Given the description of an element on the screen output the (x, y) to click on. 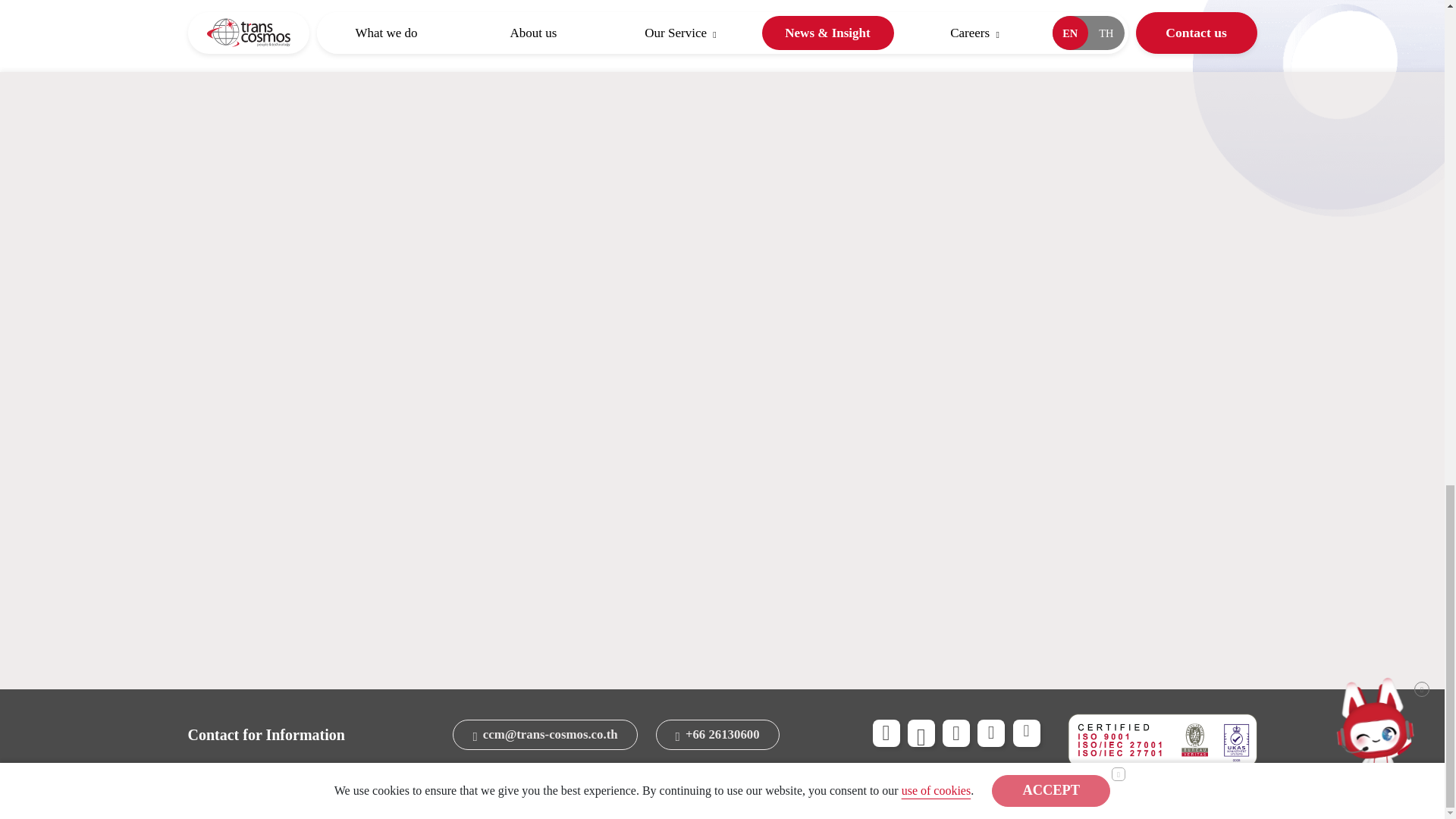
Terms of Use (638, 781)
